Given the description of an element on the screen output the (x, y) to click on. 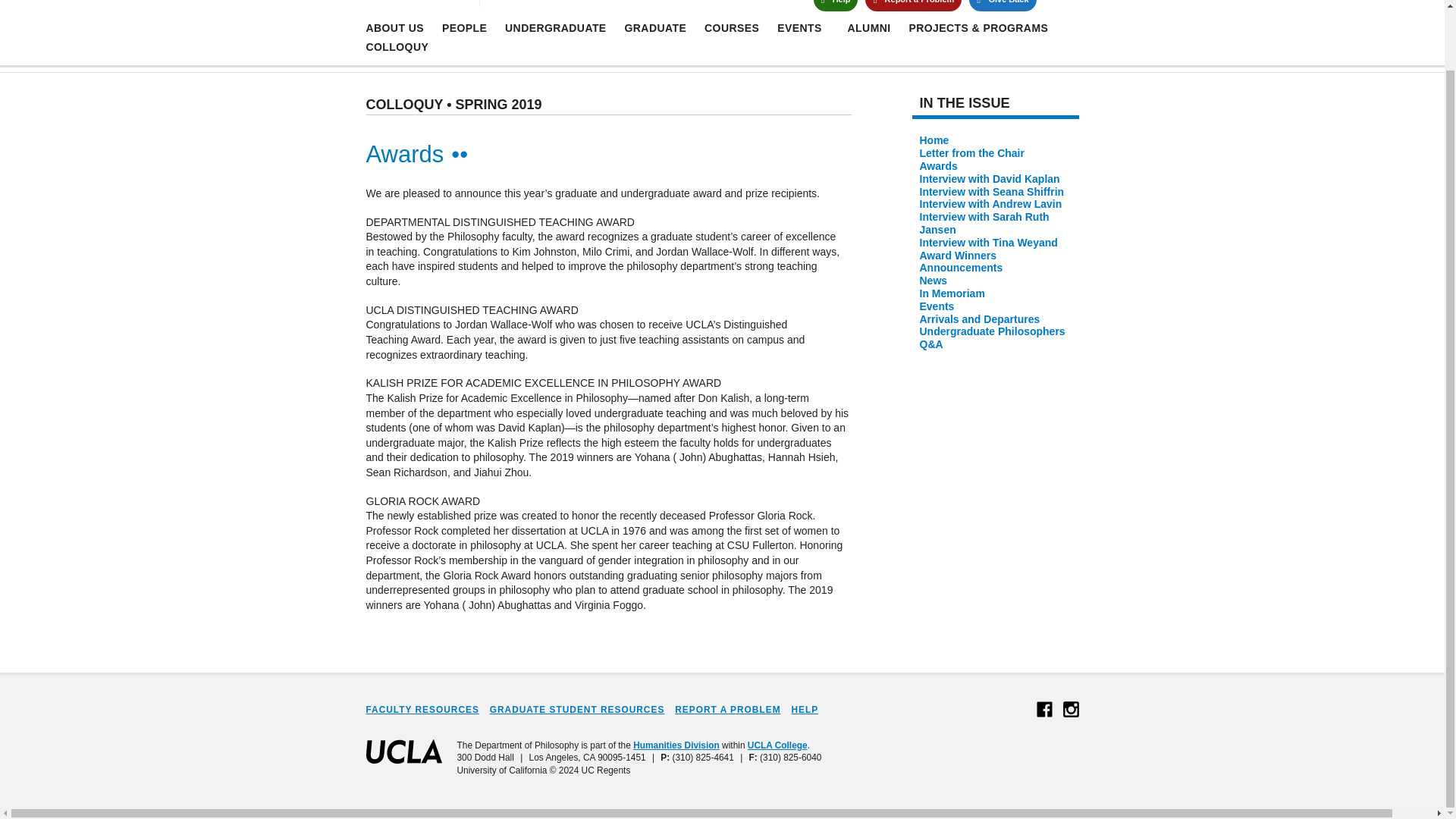
Help (834, 5)
Report a Problem (912, 5)
UNDERGRADUATE (556, 28)
COURSES (731, 28)
PEOPLE (464, 28)
GRADUATE (655, 28)
ABOUT US (588, 5)
Give Back (394, 28)
